Given the description of an element on the screen output the (x, y) to click on. 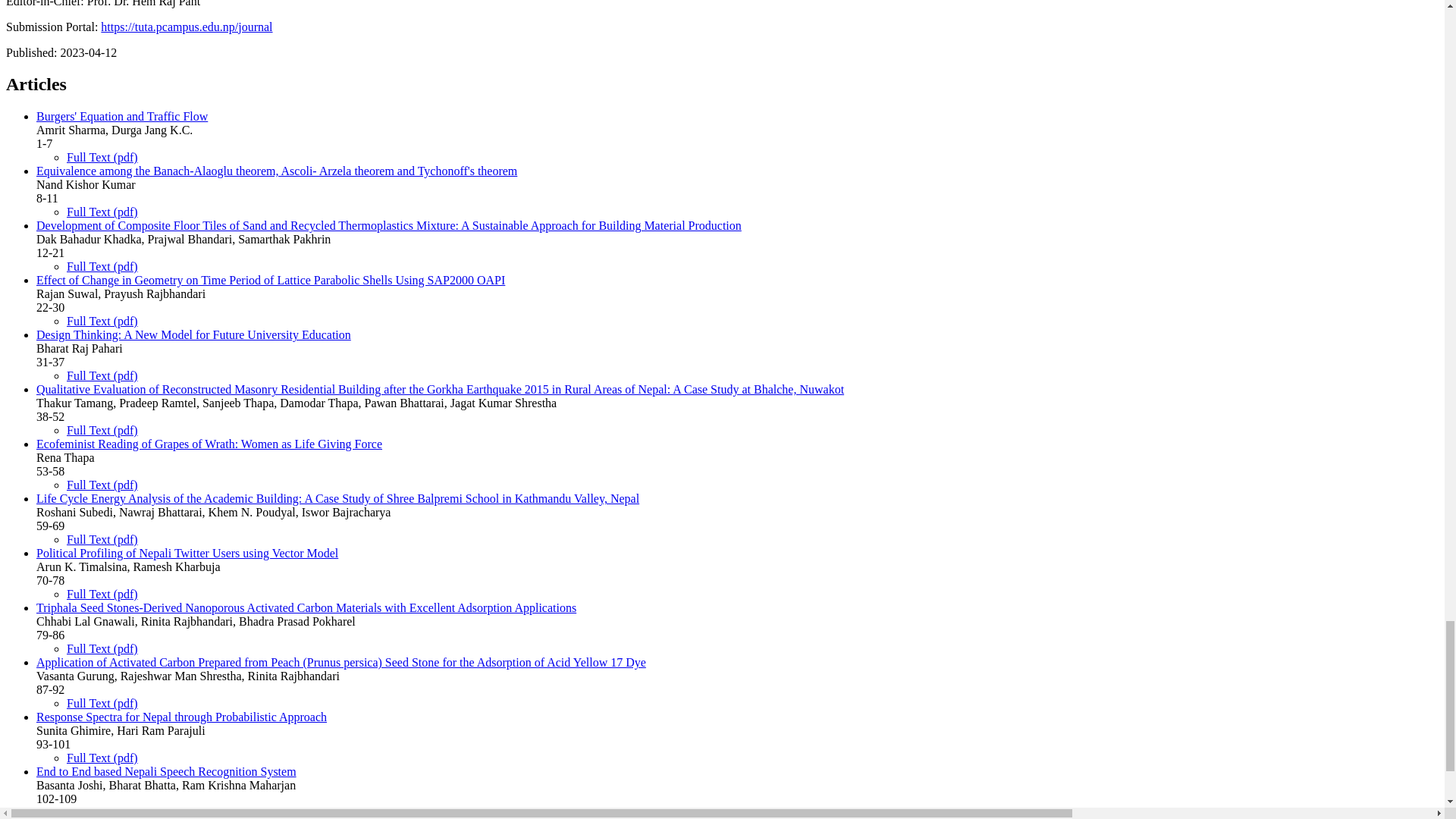
Burgers' Equation and Traffic Flow (122, 115)
Design Thinking: A New Model for Future University Education (193, 334)
